Given the description of an element on the screen output the (x, y) to click on. 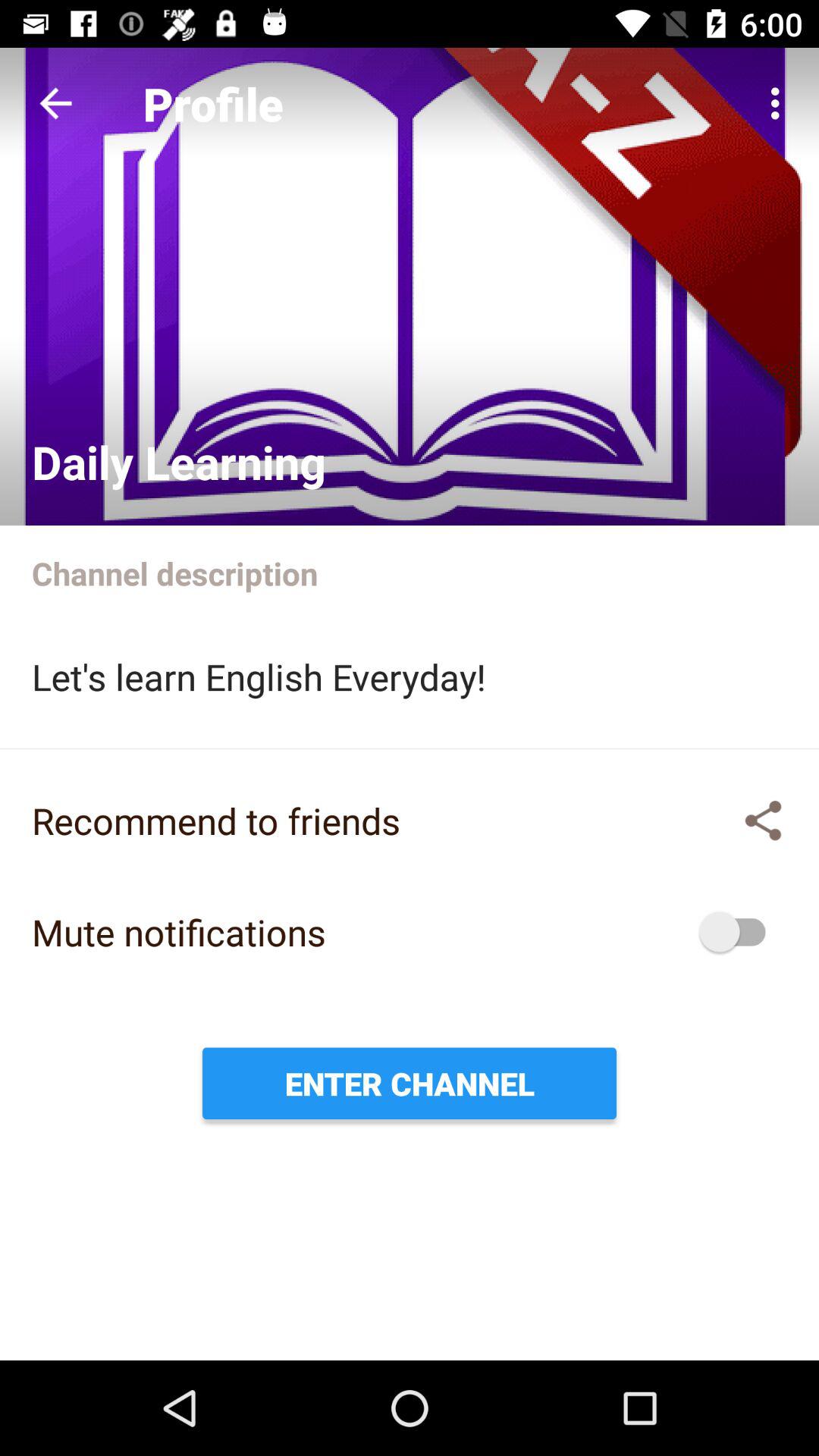
turn on the app to the right of profile icon (779, 103)
